Given the description of an element on the screen output the (x, y) to click on. 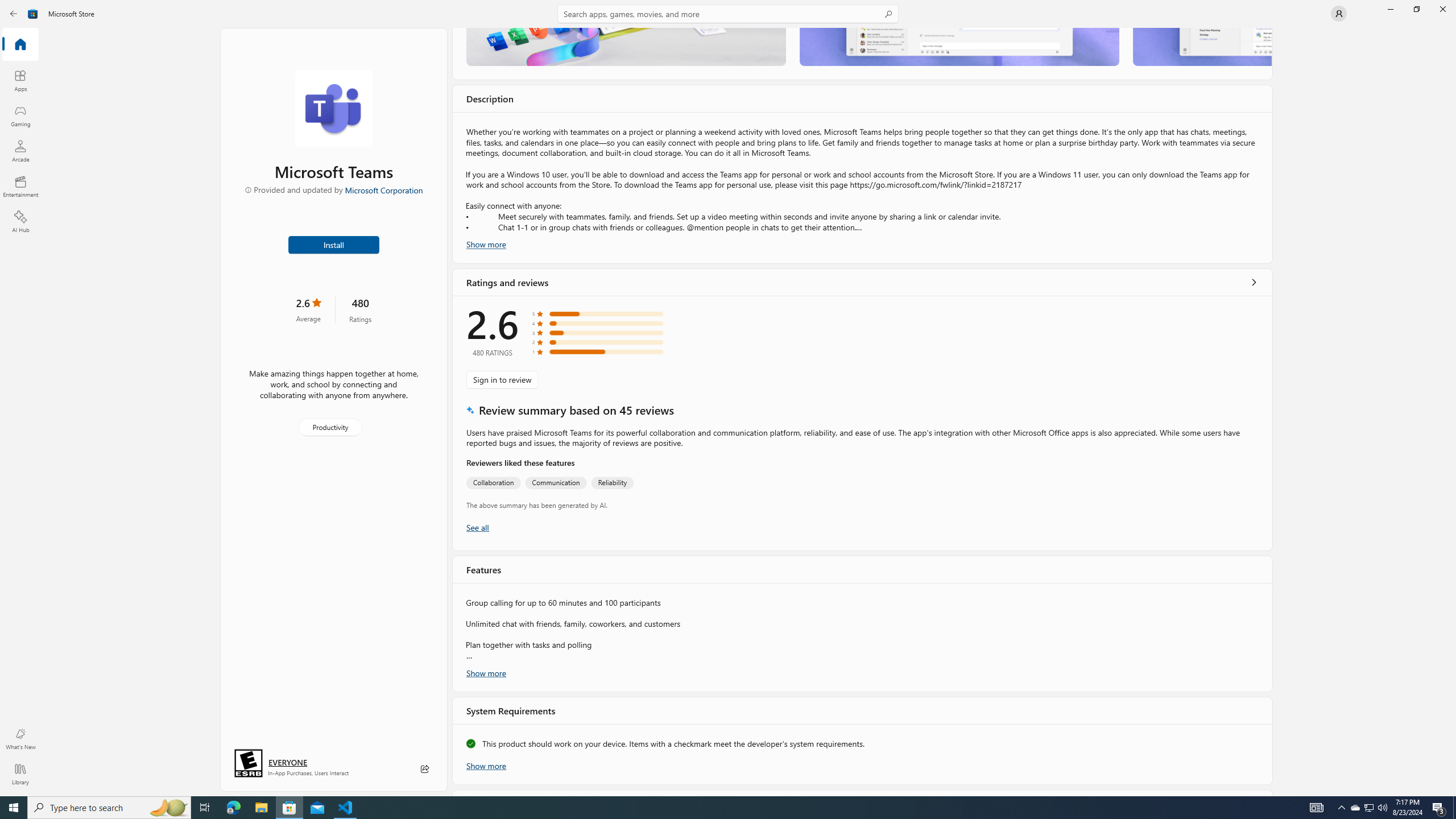
Screenshot 3 (1201, 46)
Share (424, 769)
Age rating: EVERYONE. Click for more information. (287, 762)
User profile (1338, 13)
Show more (485, 764)
AutomationID: NavigationControl (728, 398)
Show all ratings and reviews (477, 527)
AI Hub (20, 221)
Screenshot 1 (625, 46)
Back (13, 13)
Restore Microsoft Store (1416, 9)
Search (727, 13)
Gaming (20, 115)
Microsoft Corporation (383, 189)
Screenshot 2 (959, 46)
